Given the description of an element on the screen output the (x, y) to click on. 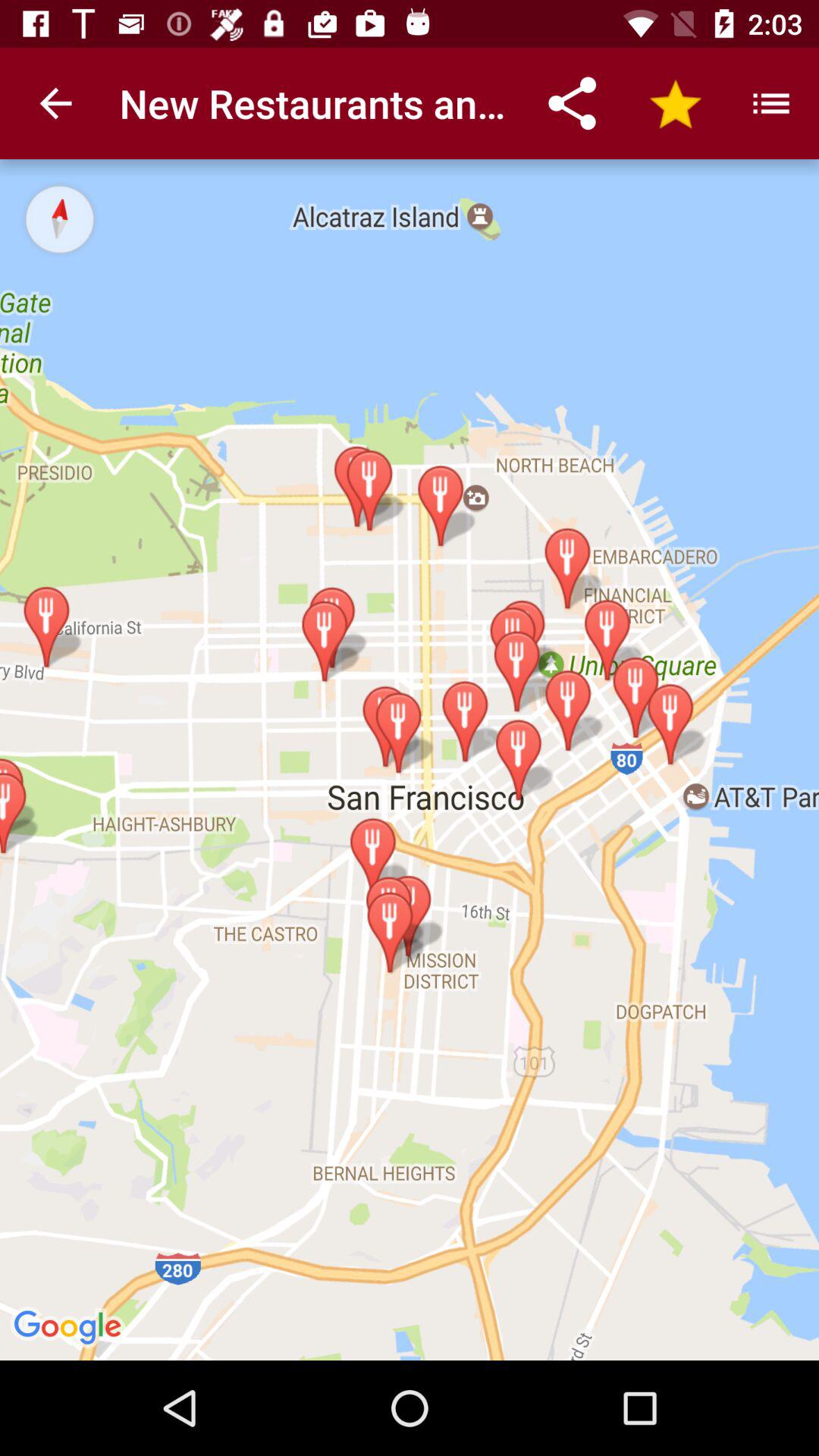
click item next to new restaurants and app (55, 103)
